Given the description of an element on the screen output the (x, y) to click on. 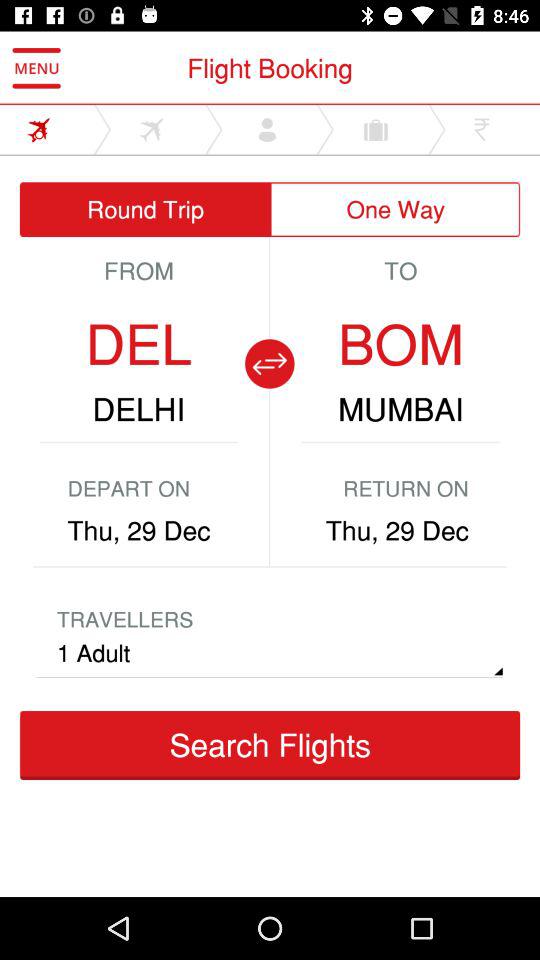
turn on the my bookings item (405, 572)
